Given the description of an element on the screen output the (x, y) to click on. 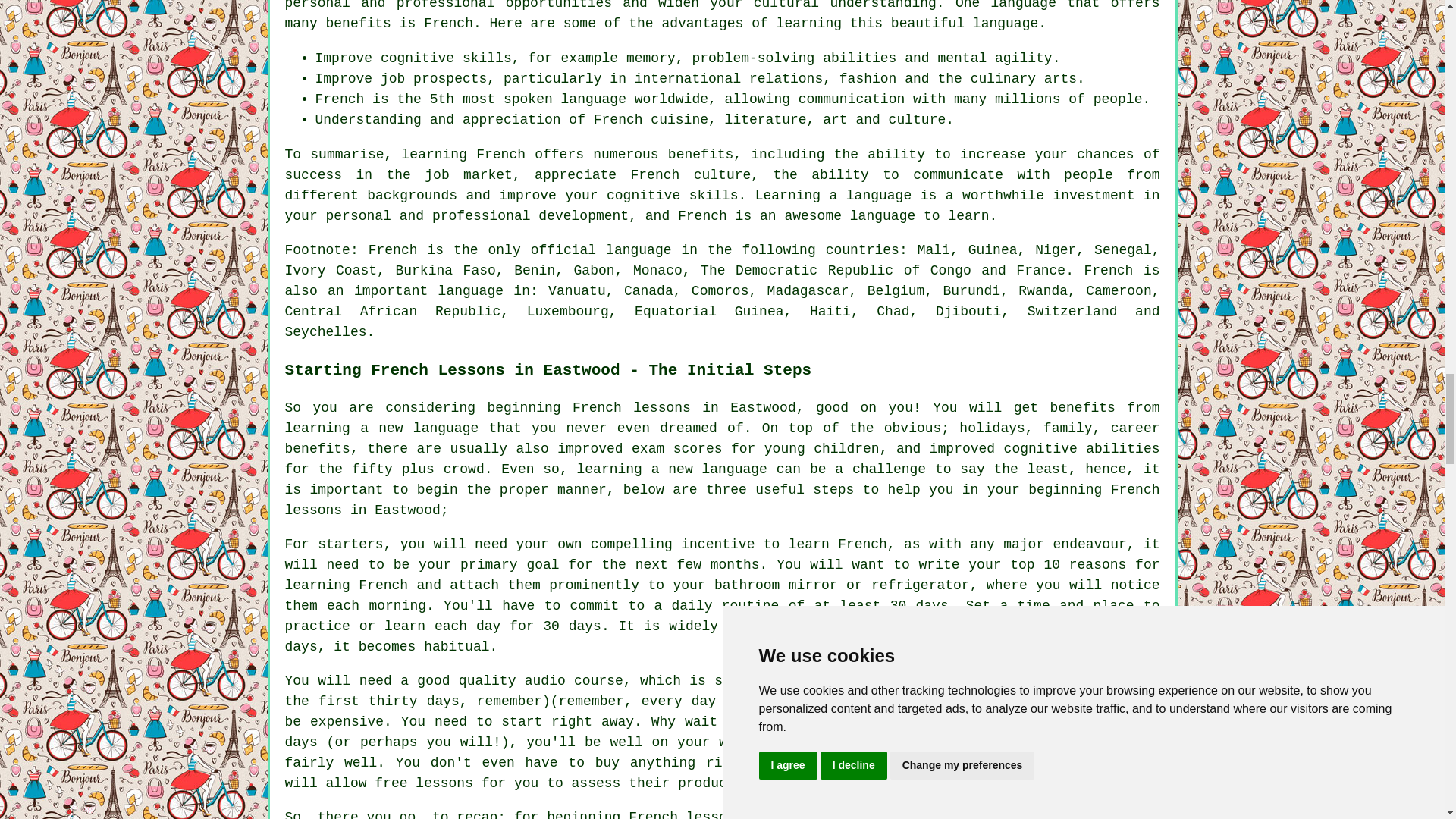
most spoken language (544, 98)
